Given the description of an element on the screen output the (x, y) to click on. 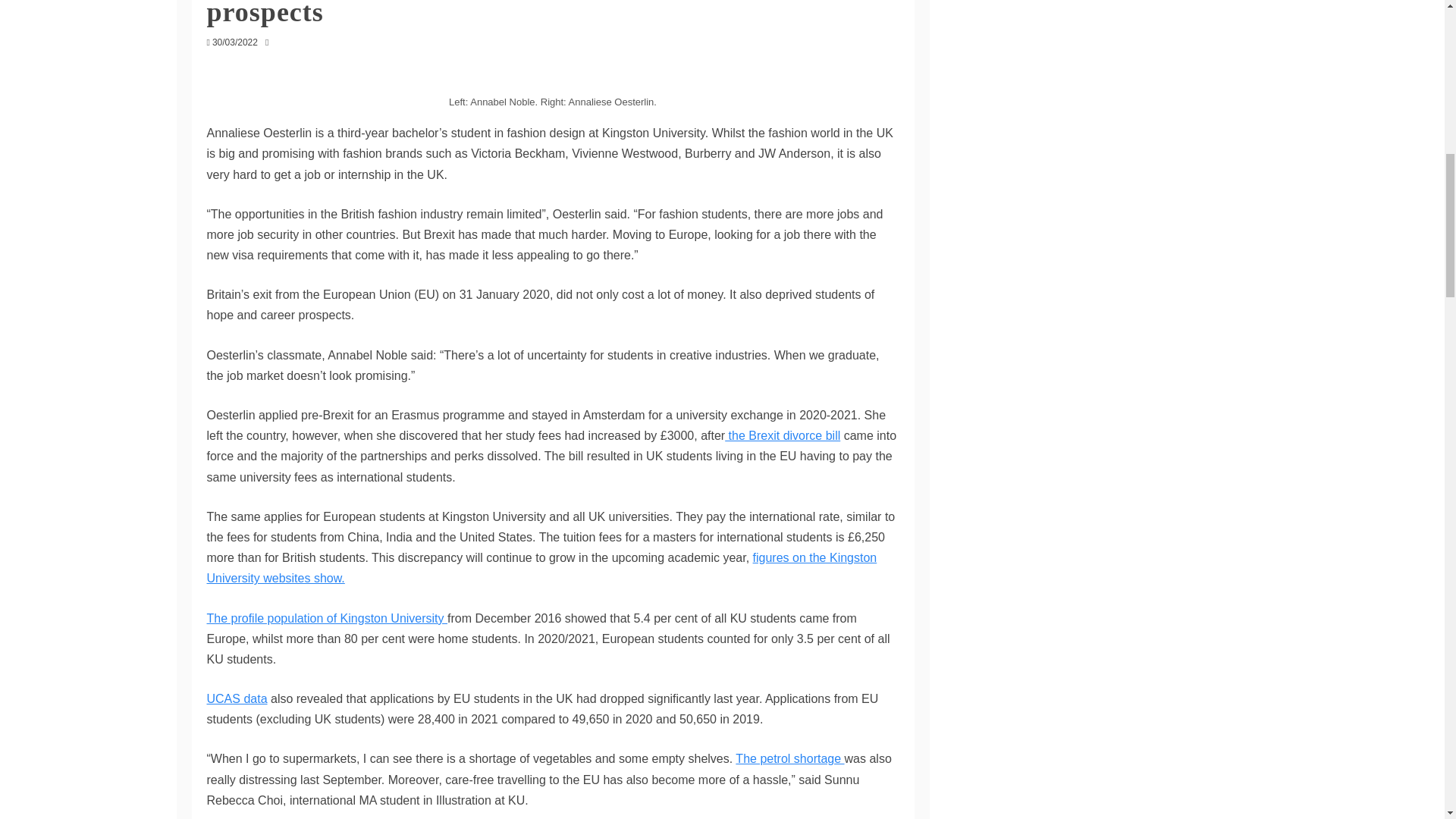
UCAS data (236, 698)
the Brexit divorce bill (782, 435)
The profile population of Kingston University (326, 617)
The petrol shortage (789, 758)
figures on the Kingston University websites show. (541, 567)
